Given the description of an element on the screen output the (x, y) to click on. 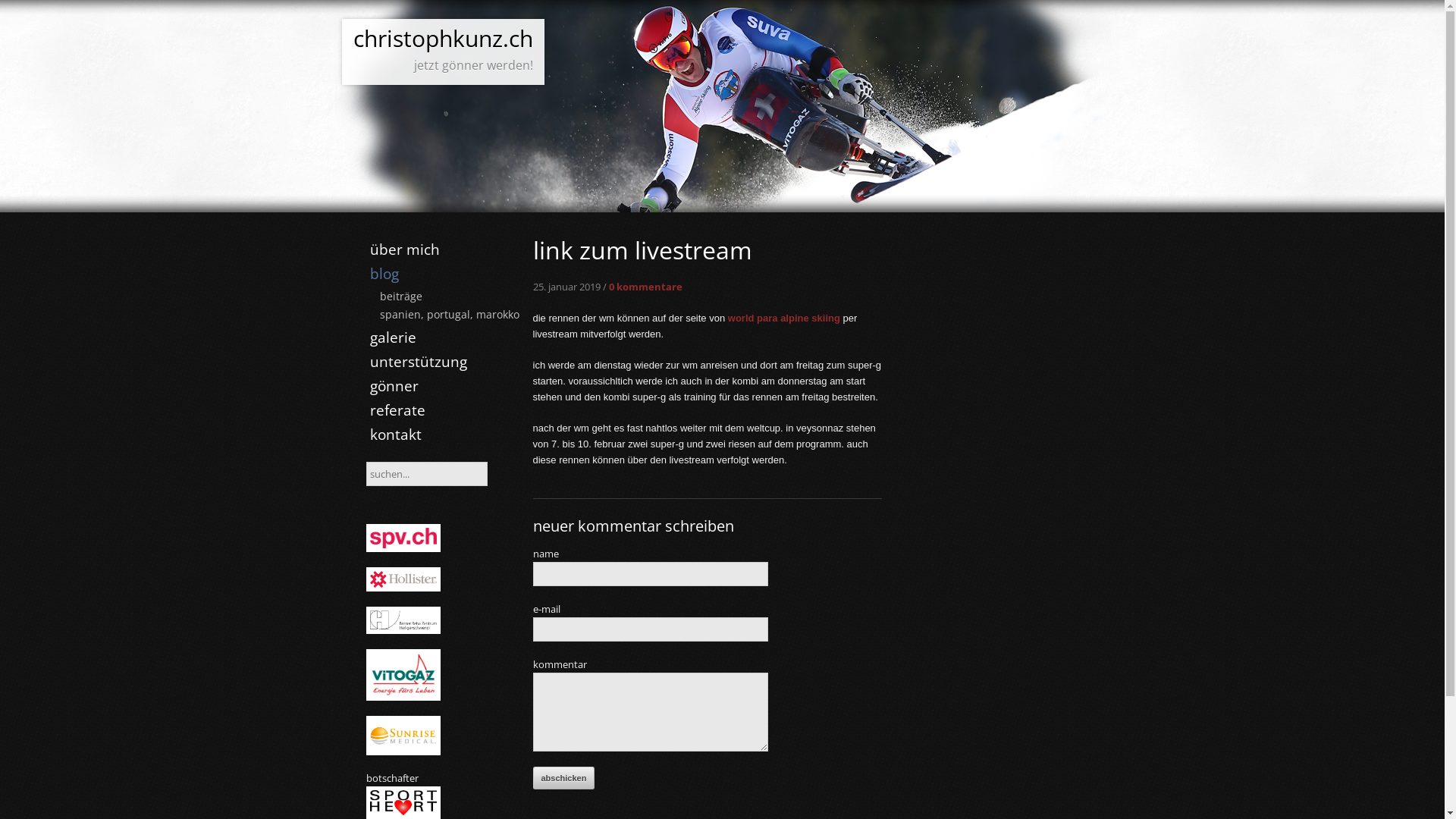
referate Element type: text (396, 409)
christophkunz.ch Element type: text (443, 37)
0 kommentare Element type: text (644, 286)
abschicken Element type: text (563, 777)
kontakt Element type: text (394, 434)
spanien, portugal, marokko Element type: text (445, 314)
galerie Element type: text (392, 337)
blog Element type: text (383, 273)
world para alpine skiing Element type: text (784, 317)
